Given the description of an element on the screen output the (x, y) to click on. 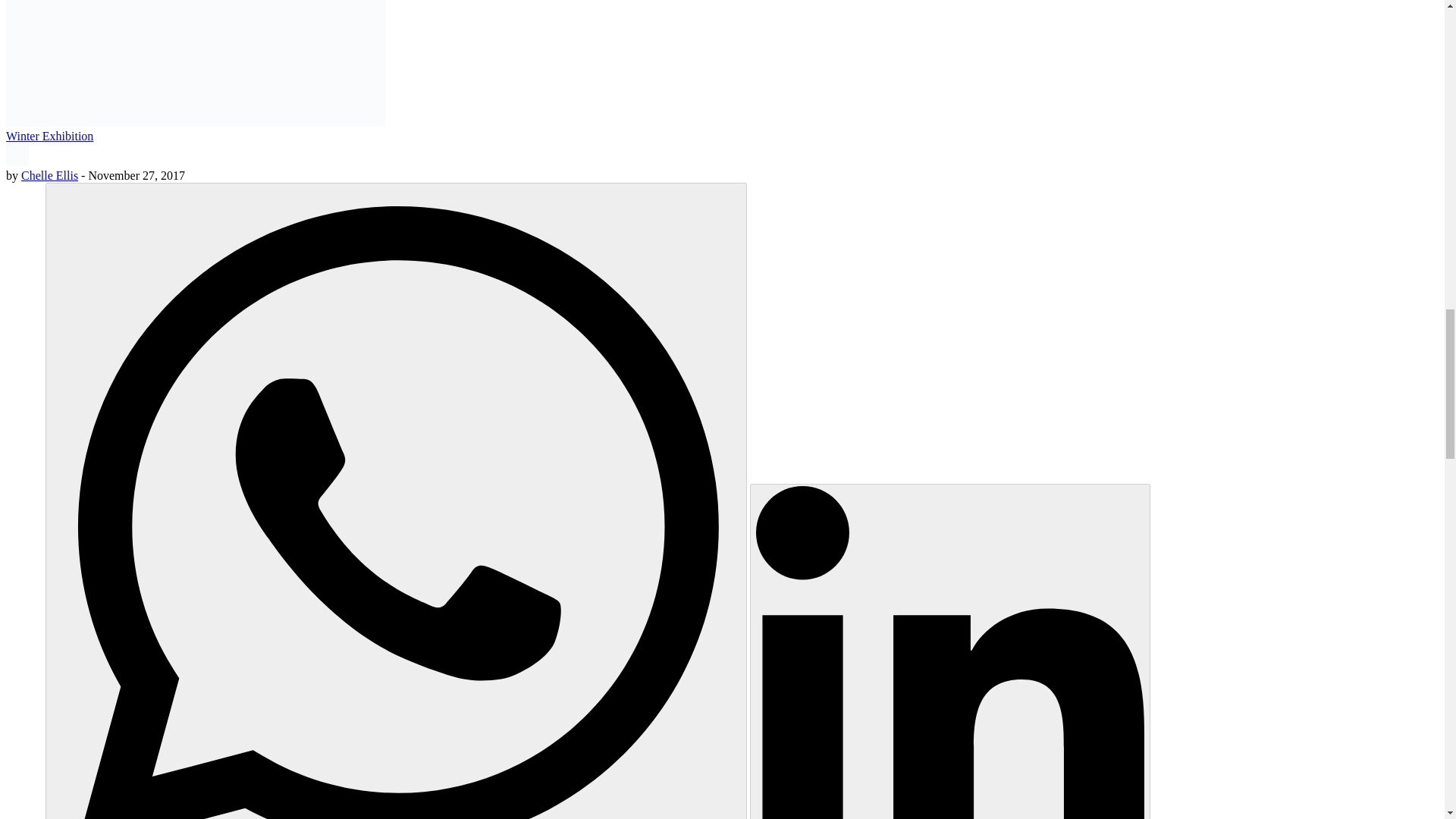
All posts from Winter Exhibition (49, 135)
